Given the description of an element on the screen output the (x, y) to click on. 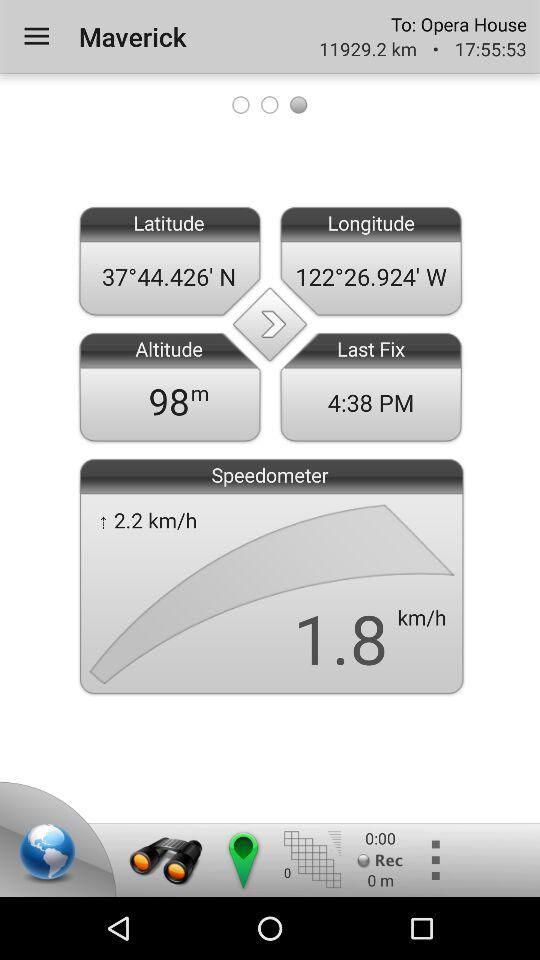
magnify the image (166, 860)
